Given the description of an element on the screen output the (x, y) to click on. 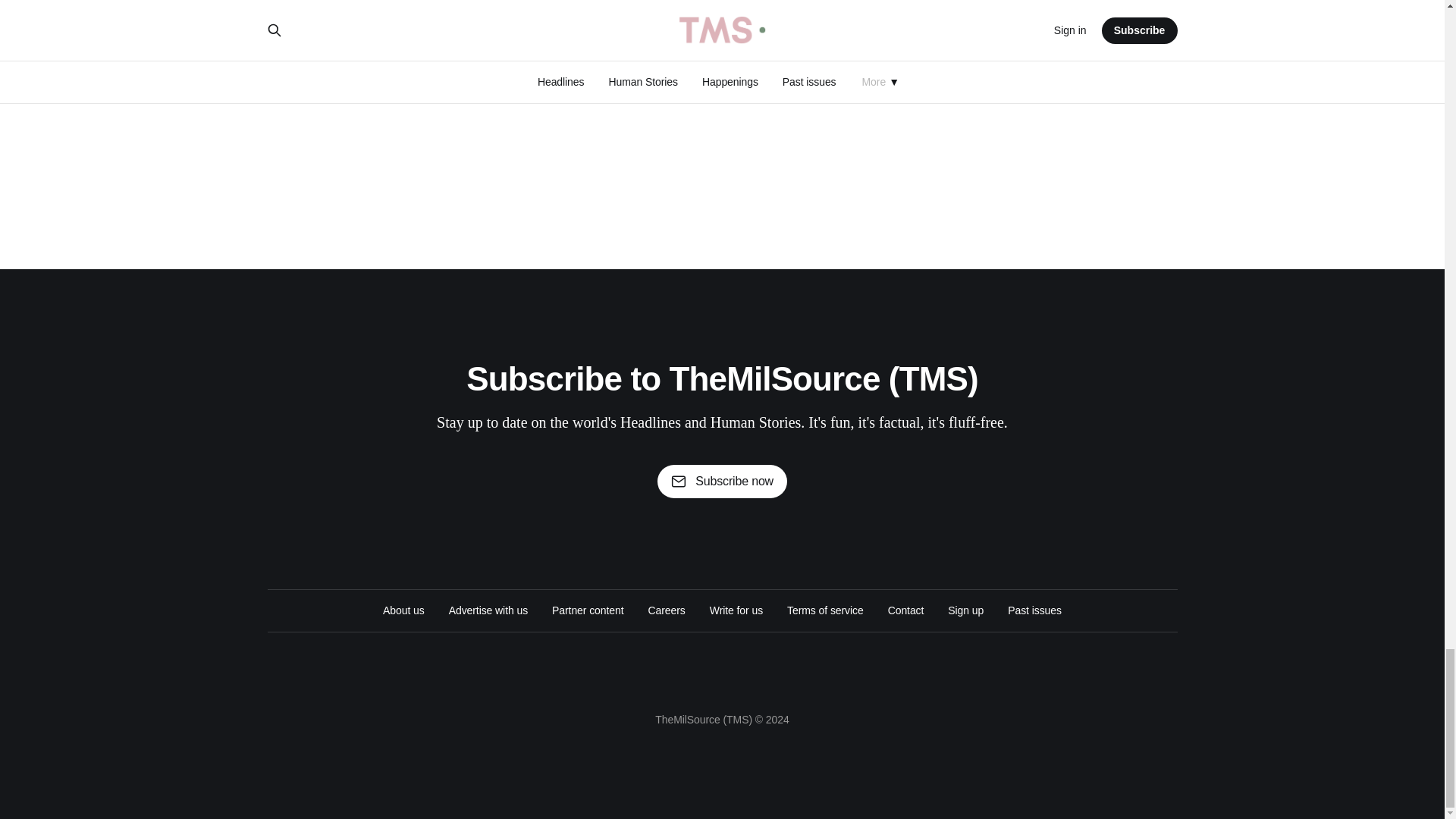
comments-frame (721, 77)
